Given the description of an element on the screen output the (x, y) to click on. 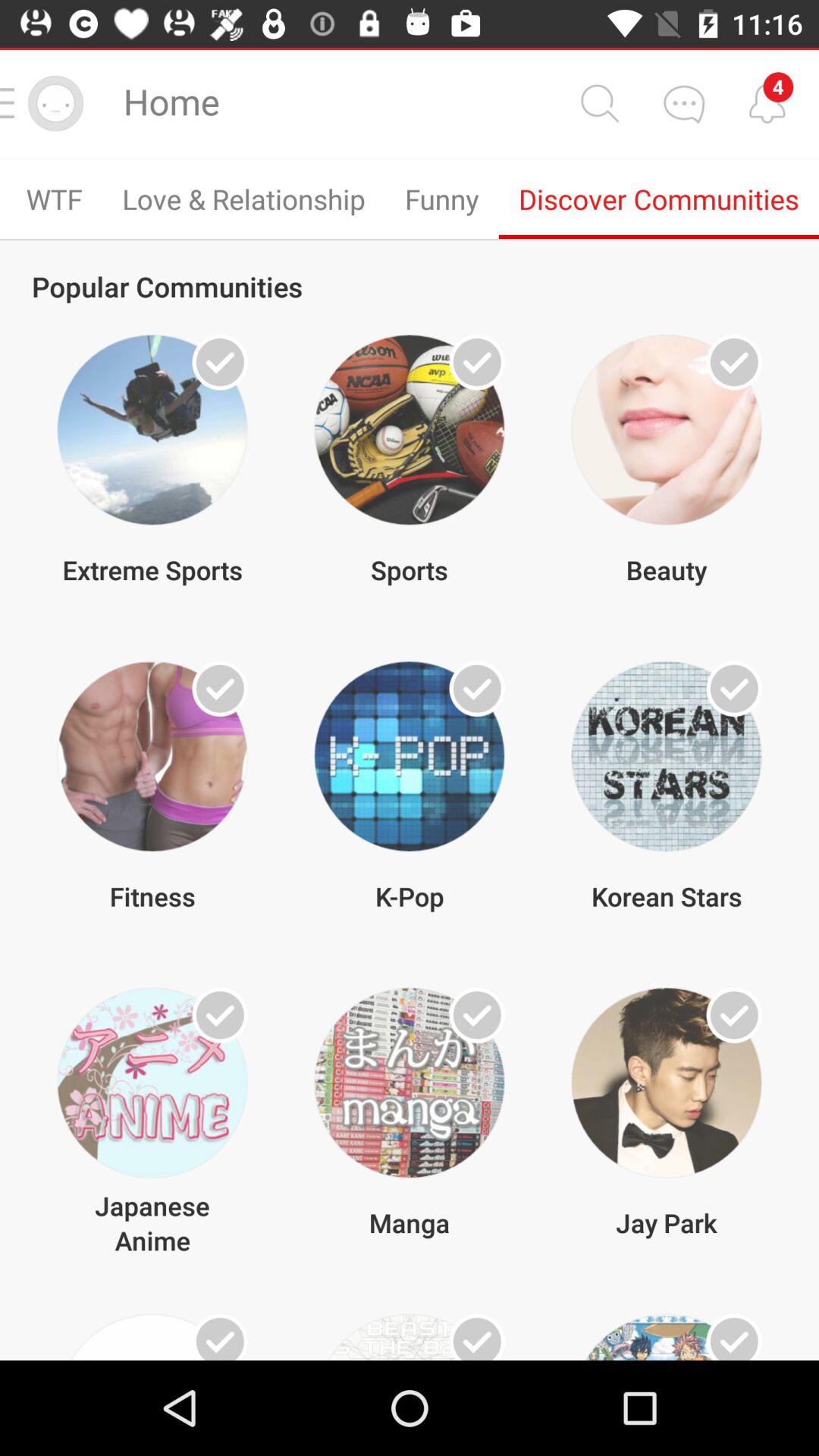
select communitie (477, 1015)
